Given the description of an element on the screen output the (x, y) to click on. 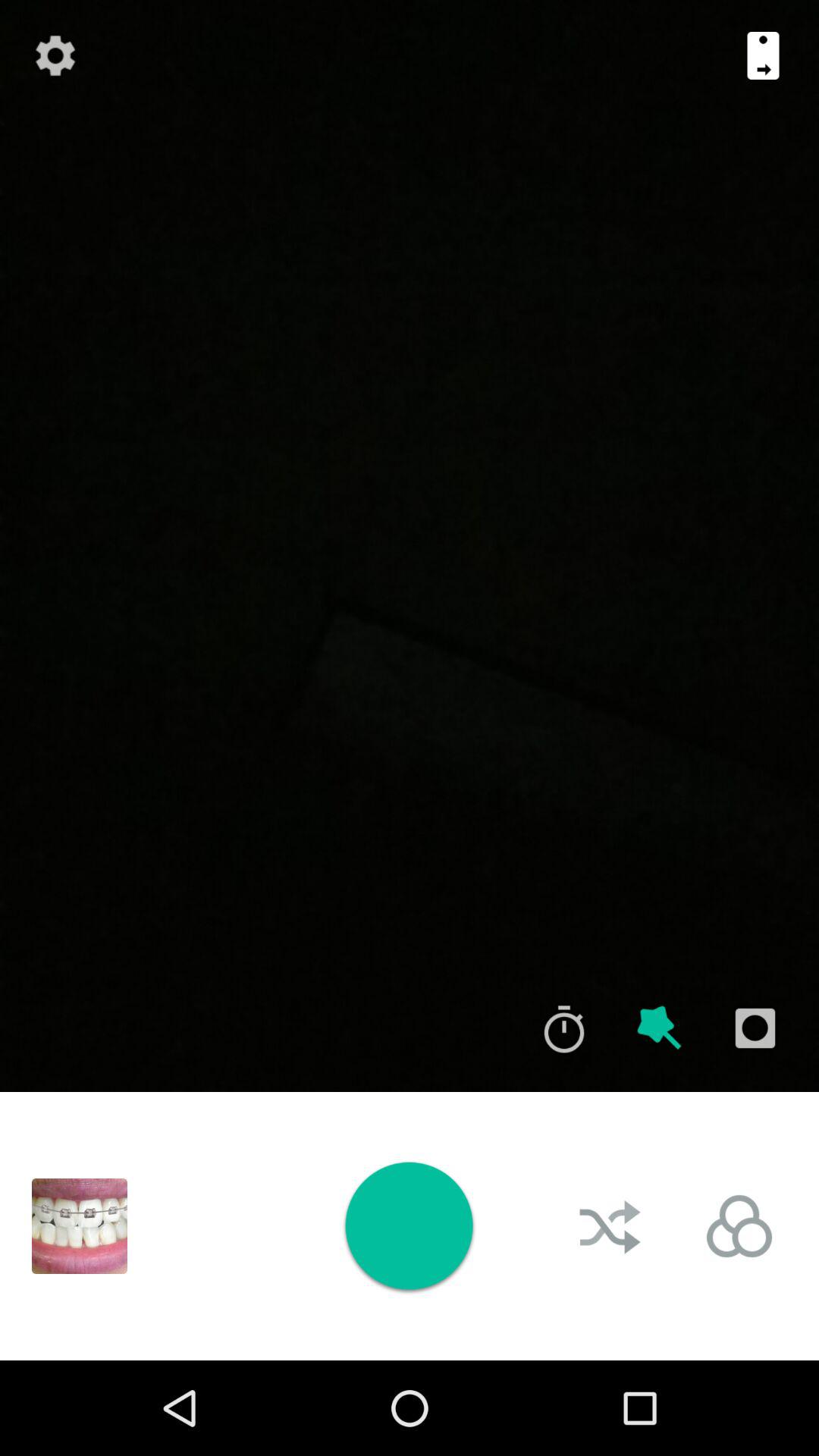
add effect (659, 1028)
